Given the description of an element on the screen output the (x, y) to click on. 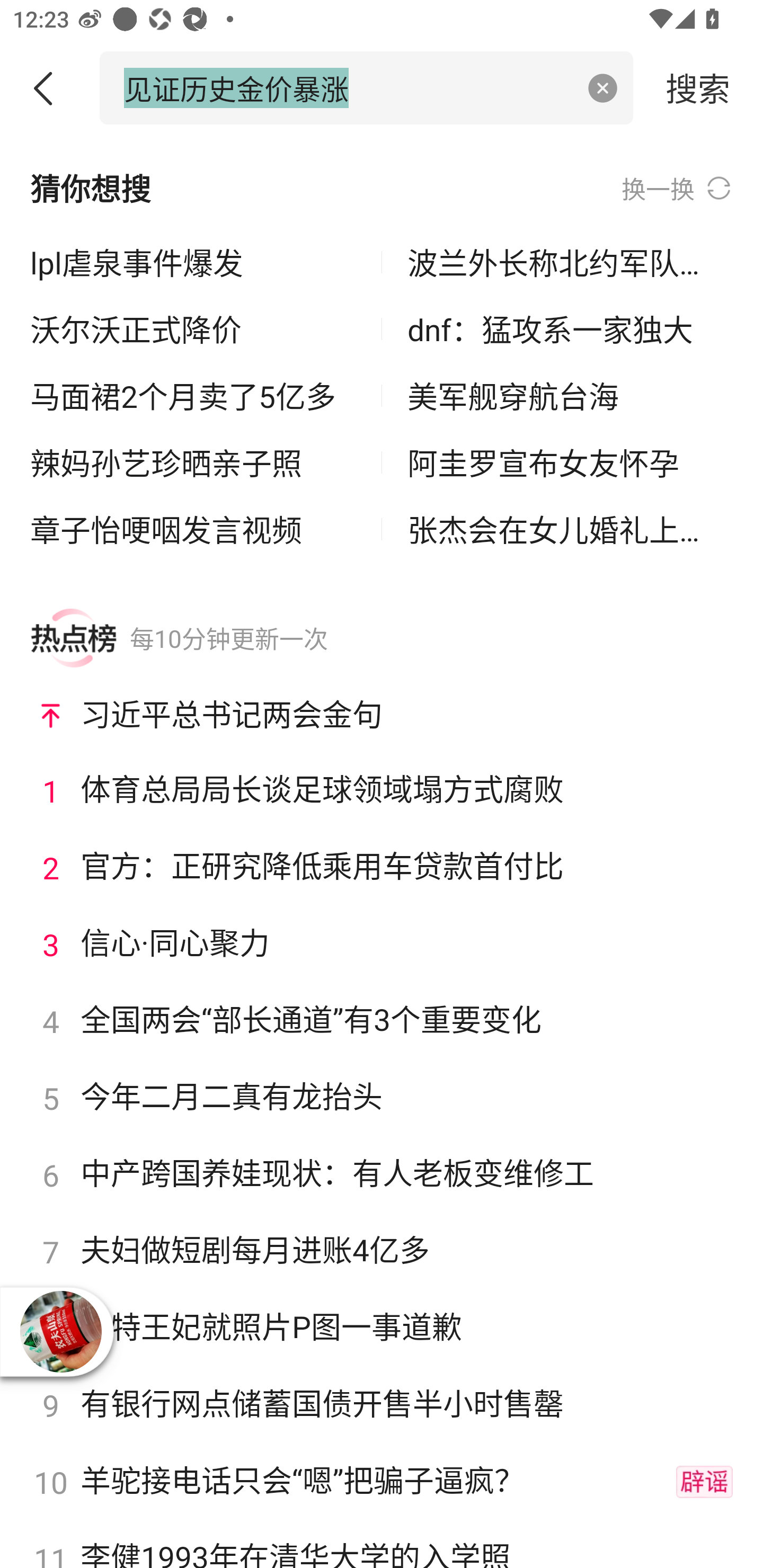
返回 (49, 87)
搜索 (698, 87)
见证历史金价暴涨 (347, 87)
清空 (602, 88)
换一换 (676, 187)
lpl虐泉事件爆发 (193, 262)
波兰外长称北约军队已抵达乌克兰 (569, 262)
沃尔沃正式降价 (193, 329)
dnf：猛攻系一家独大 (569, 329)
马面裙2个月卖了5亿多 (193, 395)
美军舰穿航台海 (569, 395)
辣妈孙艺珍晒亲子照 (193, 462)
阿圭罗宣布女友怀孕 (569, 462)
章子怡哽咽发言视频 (193, 528)
张杰会在女儿婚礼上唱三生三世 (569, 528)
播放器 (60, 1331)
